Given the description of an element on the screen output the (x, y) to click on. 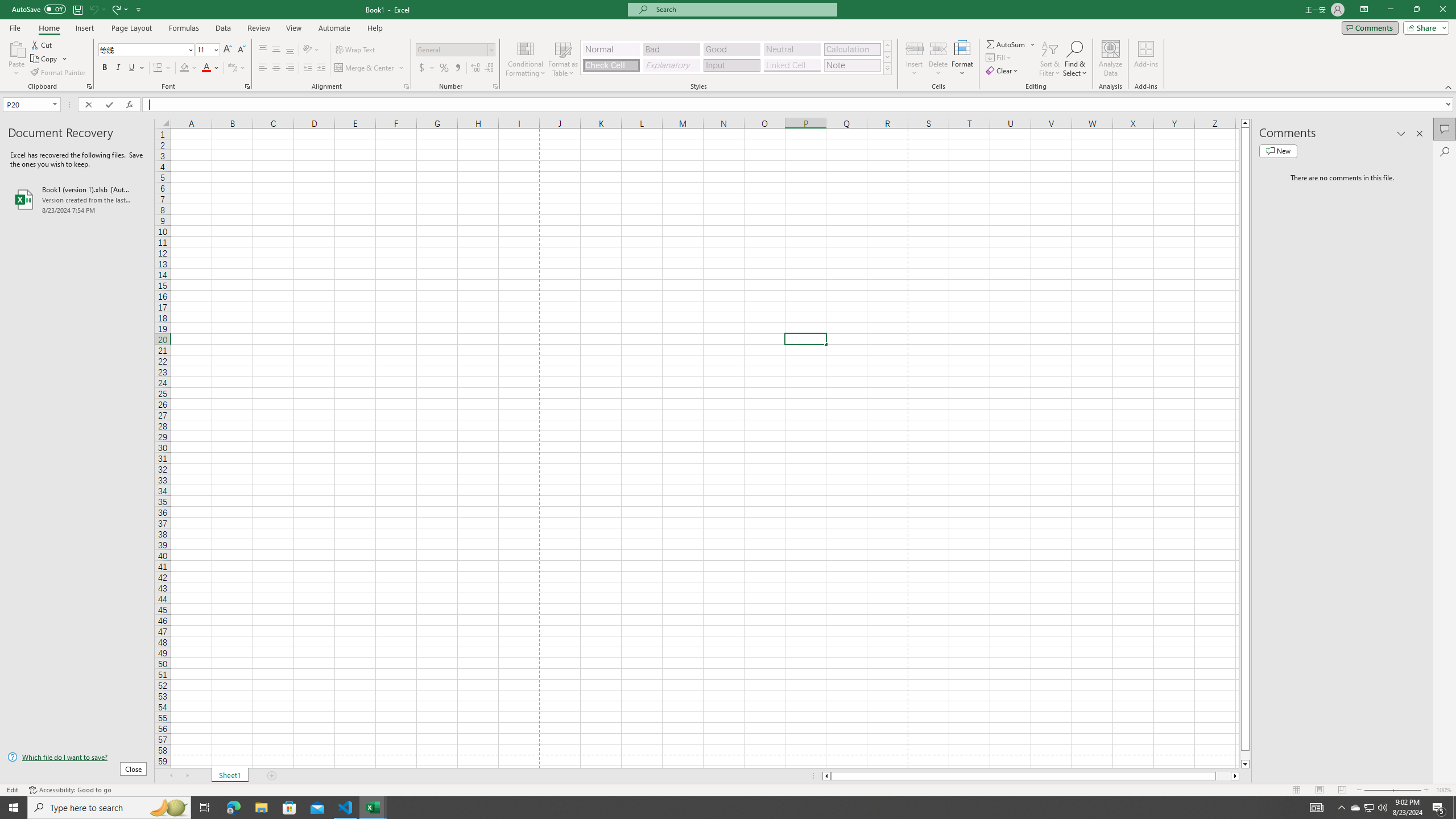
Class: NetUIImage (887, 68)
Merge & Center (369, 67)
Sort & Filter (1049, 58)
Middle Align (276, 49)
Cut (42, 44)
